Given the description of an element on the screen output the (x, y) to click on. 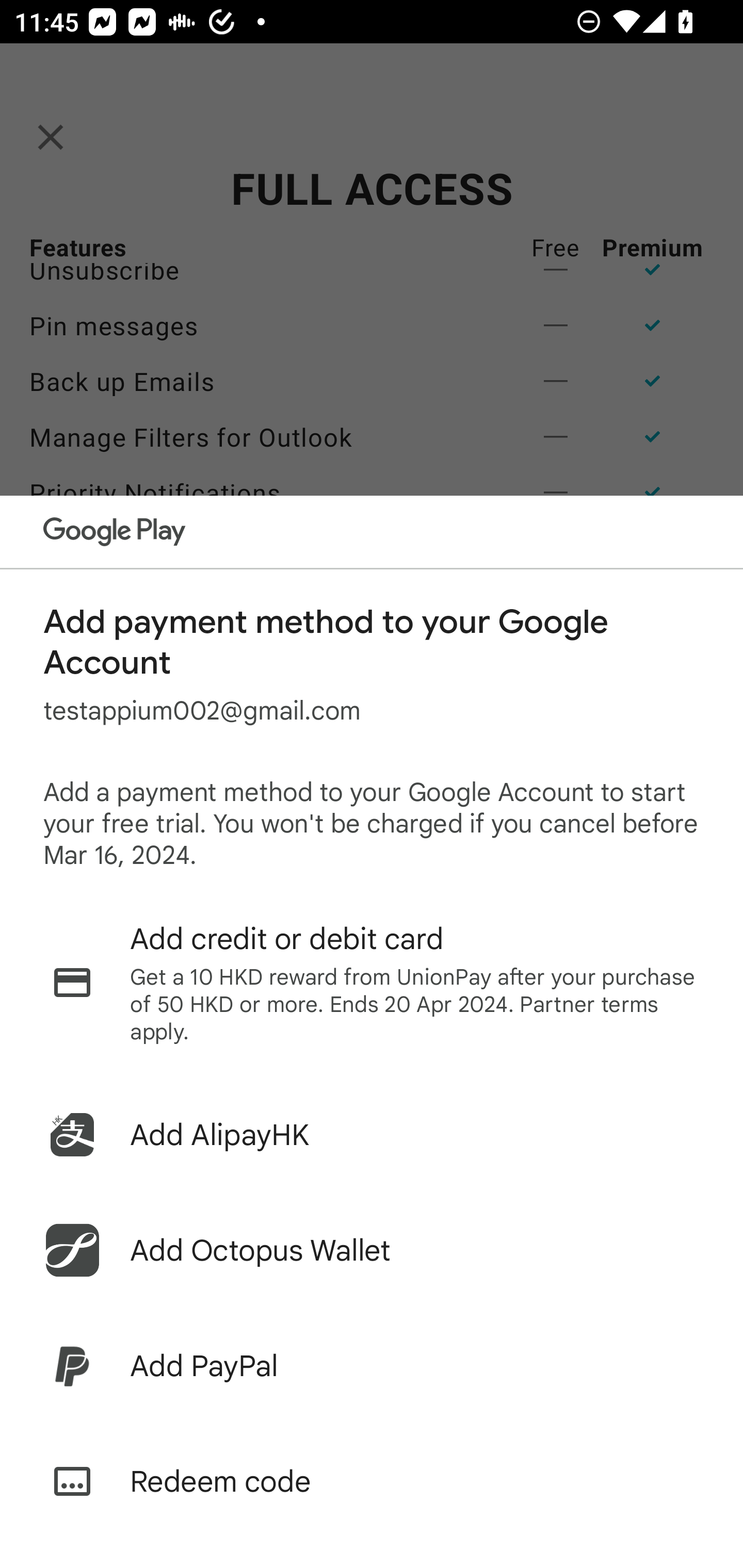
Add AlipayHK (371, 1135)
Add Octopus Wallet (371, 1250)
Add PayPal (371, 1365)
Redeem code (371, 1481)
